Given the description of an element on the screen output the (x, y) to click on. 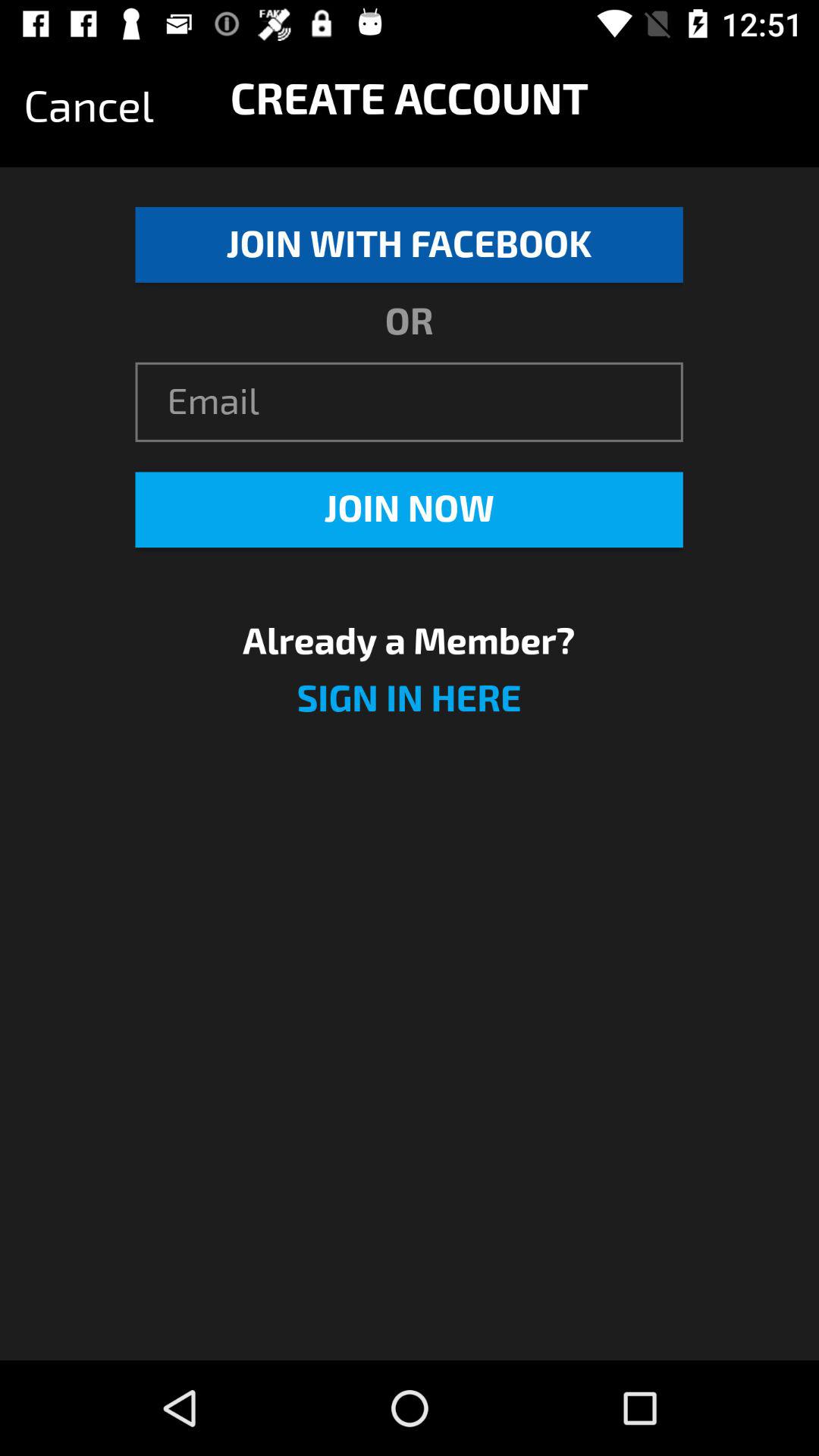
turn off the cancel (89, 107)
